Given the description of an element on the screen output the (x, y) to click on. 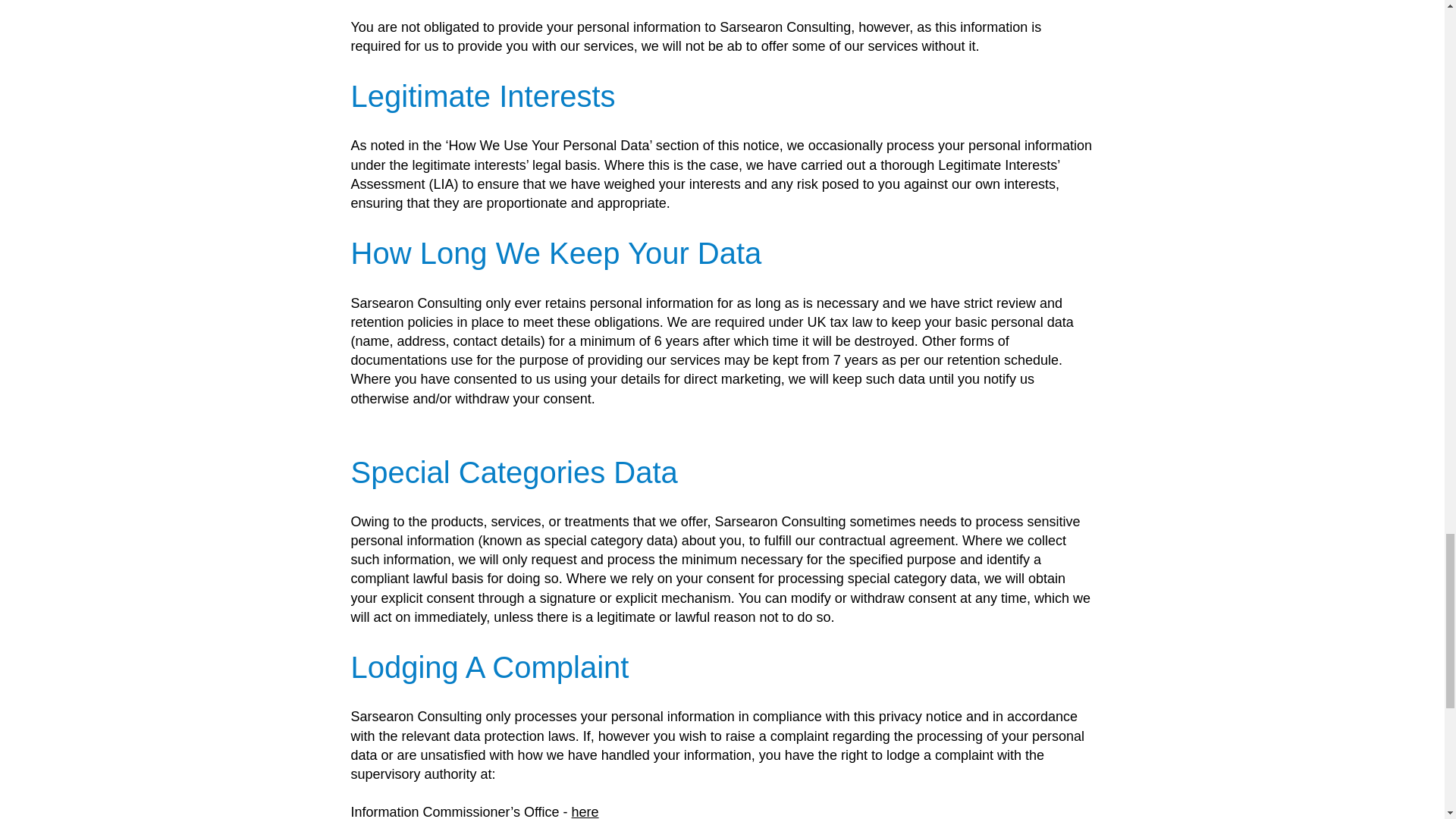
here (585, 811)
